Given the description of an element on the screen output the (x, y) to click on. 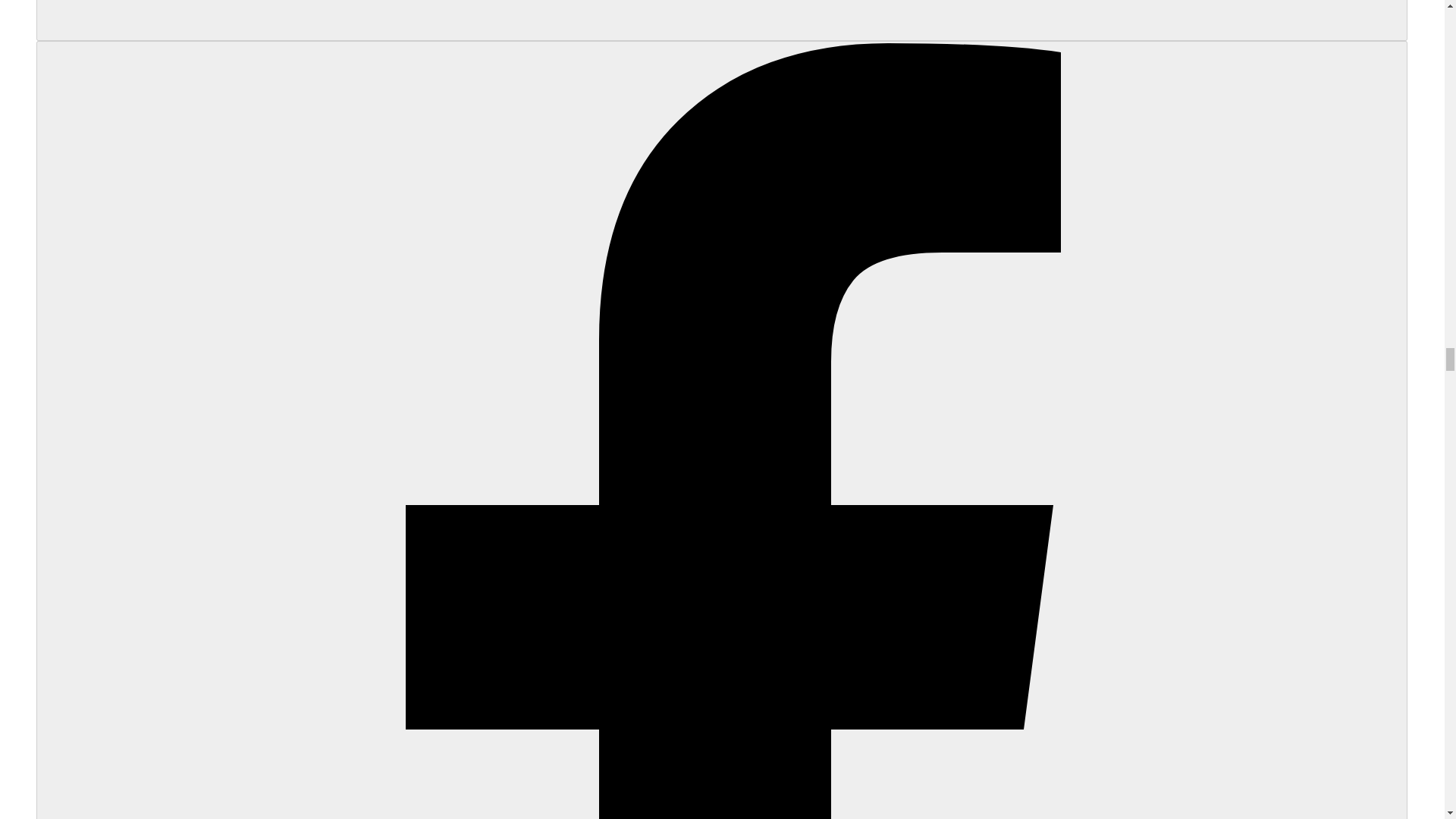
Share on Pinterest (721, 20)
